Given the description of an element on the screen output the (x, y) to click on. 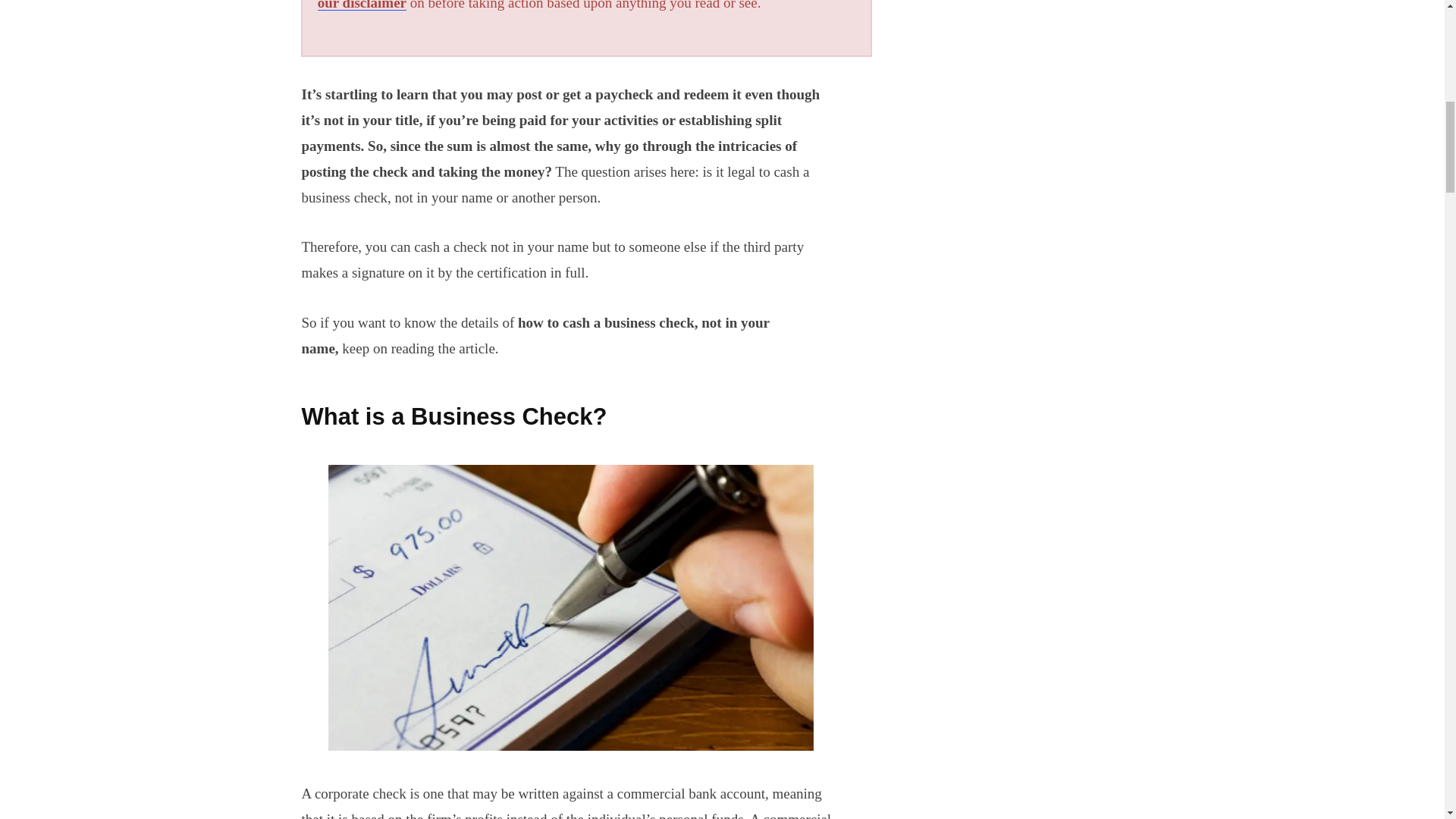
Please review our disclaimer (580, 5)
